Given the description of an element on the screen output the (x, y) to click on. 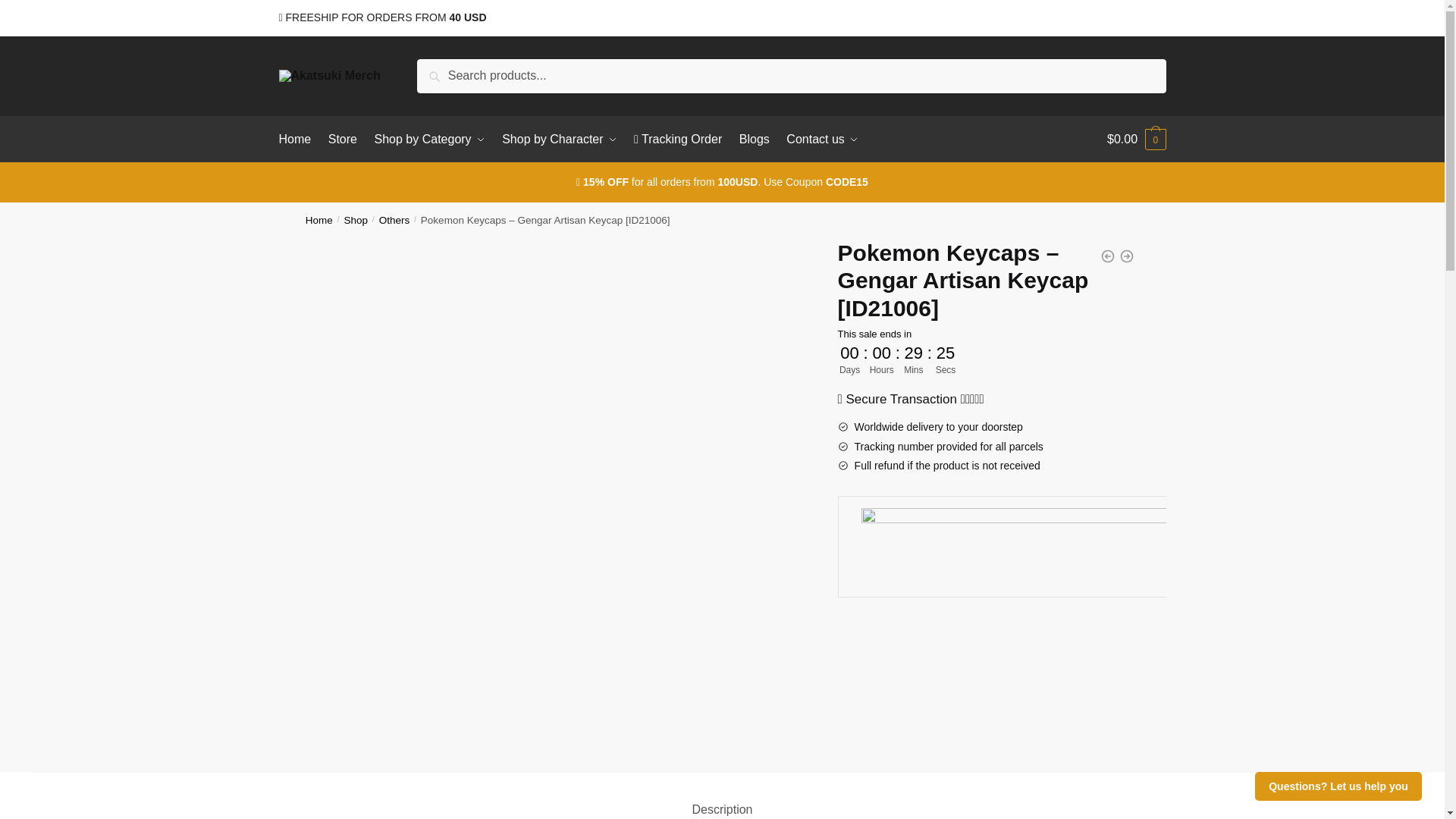
View your shopping cart (1136, 139)
Search (440, 69)
Store (342, 139)
Shop by Category (430, 139)
